Given the description of an element on the screen output the (x, y) to click on. 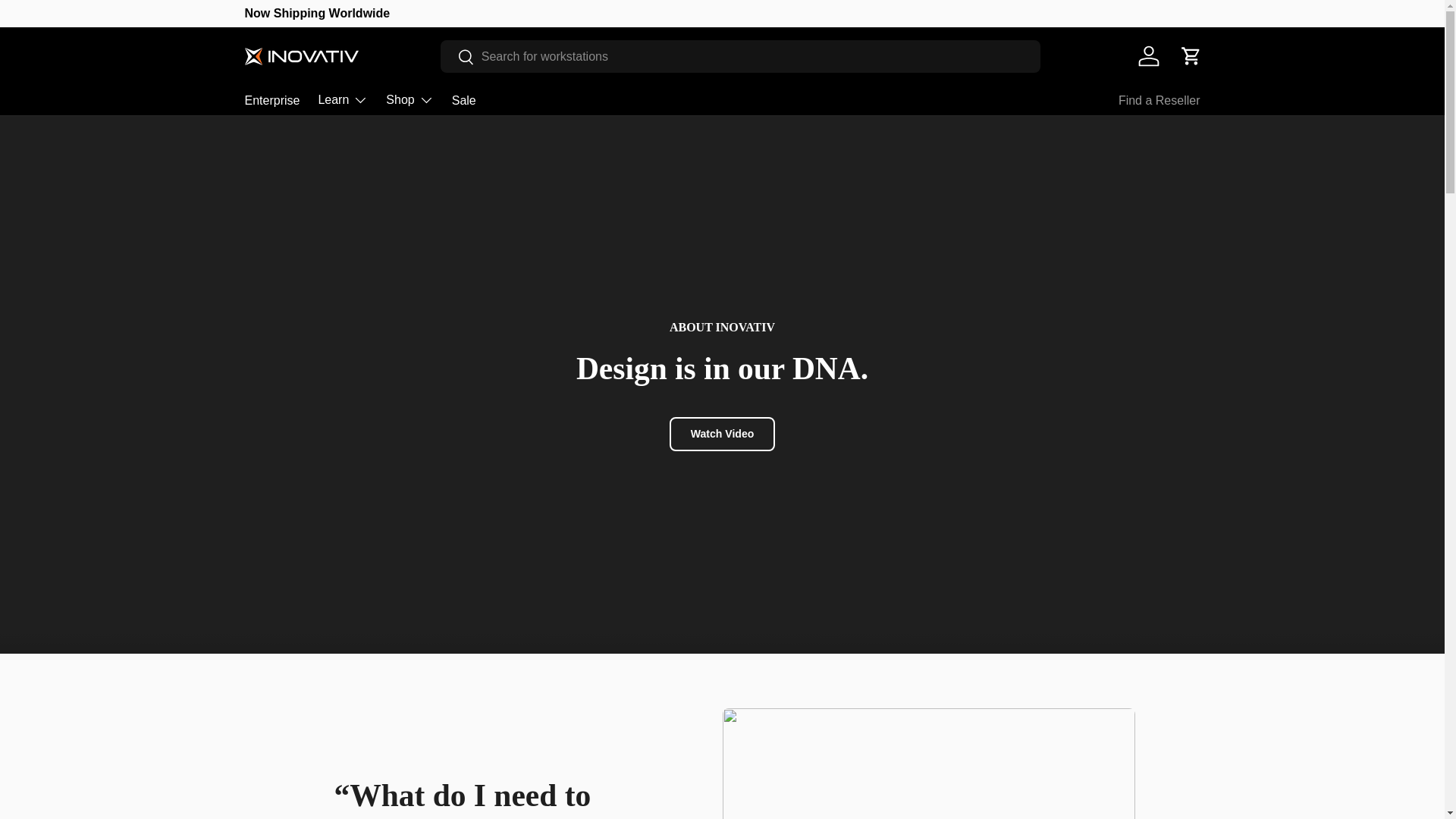
Log in (1147, 55)
Search (457, 57)
Enterprise (271, 100)
Shop (408, 100)
Skip to content (69, 21)
Cart (1190, 55)
Learn (342, 100)
